Given the description of an element on the screen output the (x, y) to click on. 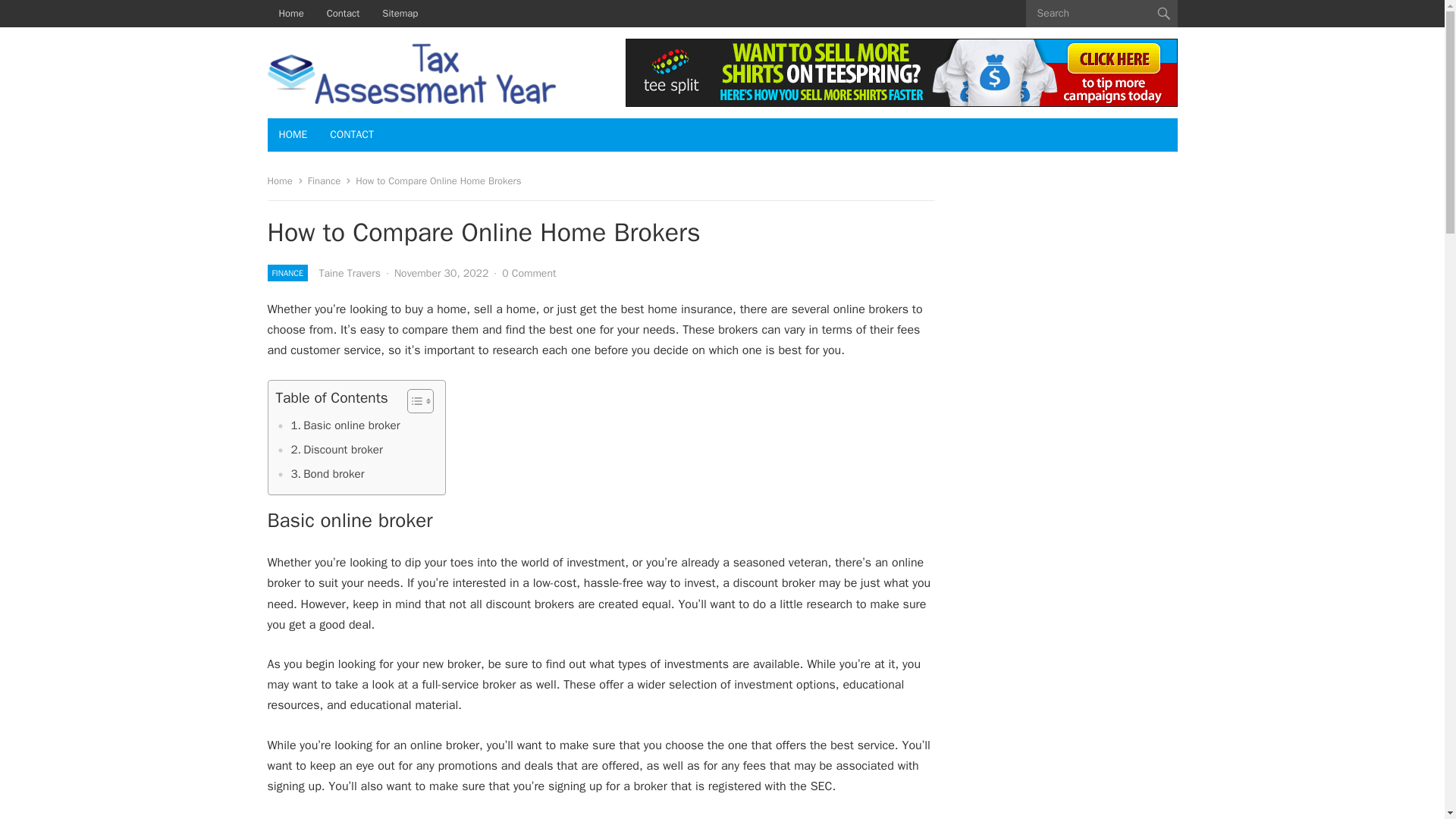
Bond broker (328, 474)
Bond broker (328, 474)
0 Comment (529, 273)
Contact (343, 13)
Taine Travers (349, 273)
Posts by Taine Travers (349, 273)
Basic online broker (345, 425)
HOME (292, 134)
Home (284, 180)
Discount broker (336, 449)
